Given the description of an element on the screen output the (x, y) to click on. 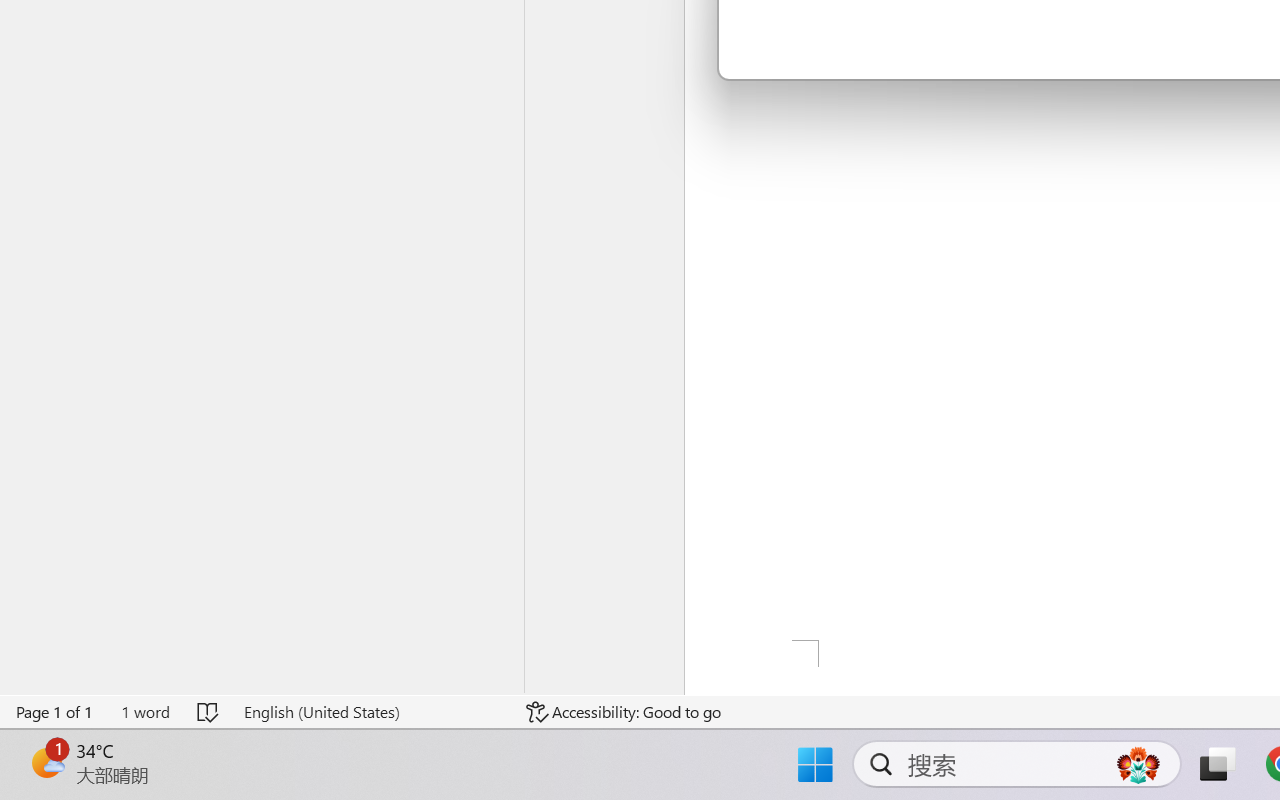
Page Number Page 1 of 1 (55, 712)
AutomationID: DynamicSearchBoxGleamImage (1138, 764)
Word Count 1 word (145, 712)
AutomationID: BadgeAnchorLargeTicker (46, 762)
Spelling and Grammar Check No Errors (208, 712)
Accessibility Checker Accessibility: Good to go (623, 712)
Language English (United States) (370, 712)
